Given the description of an element on the screen output the (x, y) to click on. 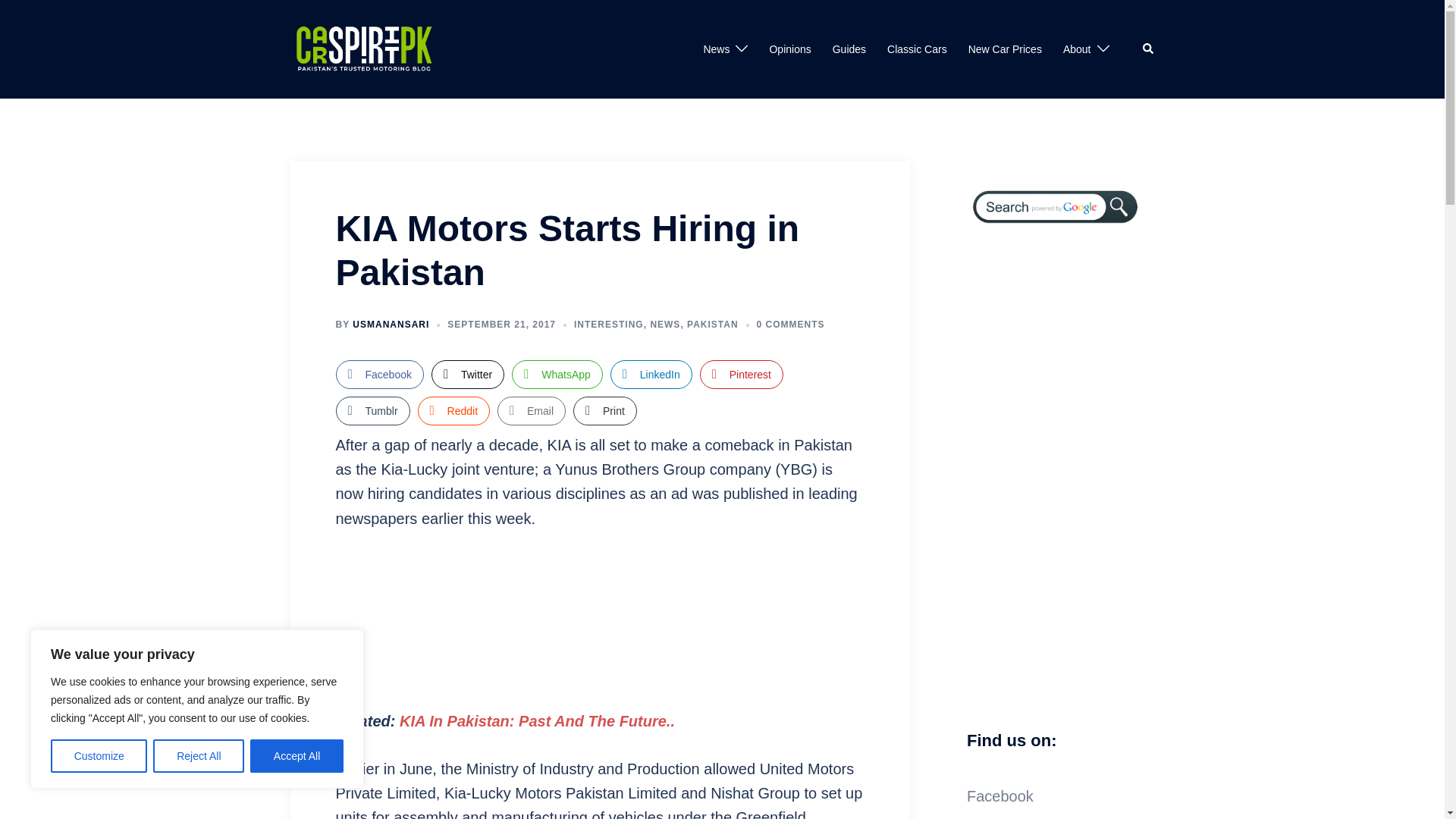
Reject All (198, 756)
KIA In Pakistan: Past And The Future.. (536, 720)
Accept All (296, 756)
News (716, 48)
Opinions (789, 48)
Customize (98, 756)
Guides (849, 48)
New Car Prices (1005, 48)
Advertisement (599, 619)
About (1076, 48)
